Given the description of an element on the screen output the (x, y) to click on. 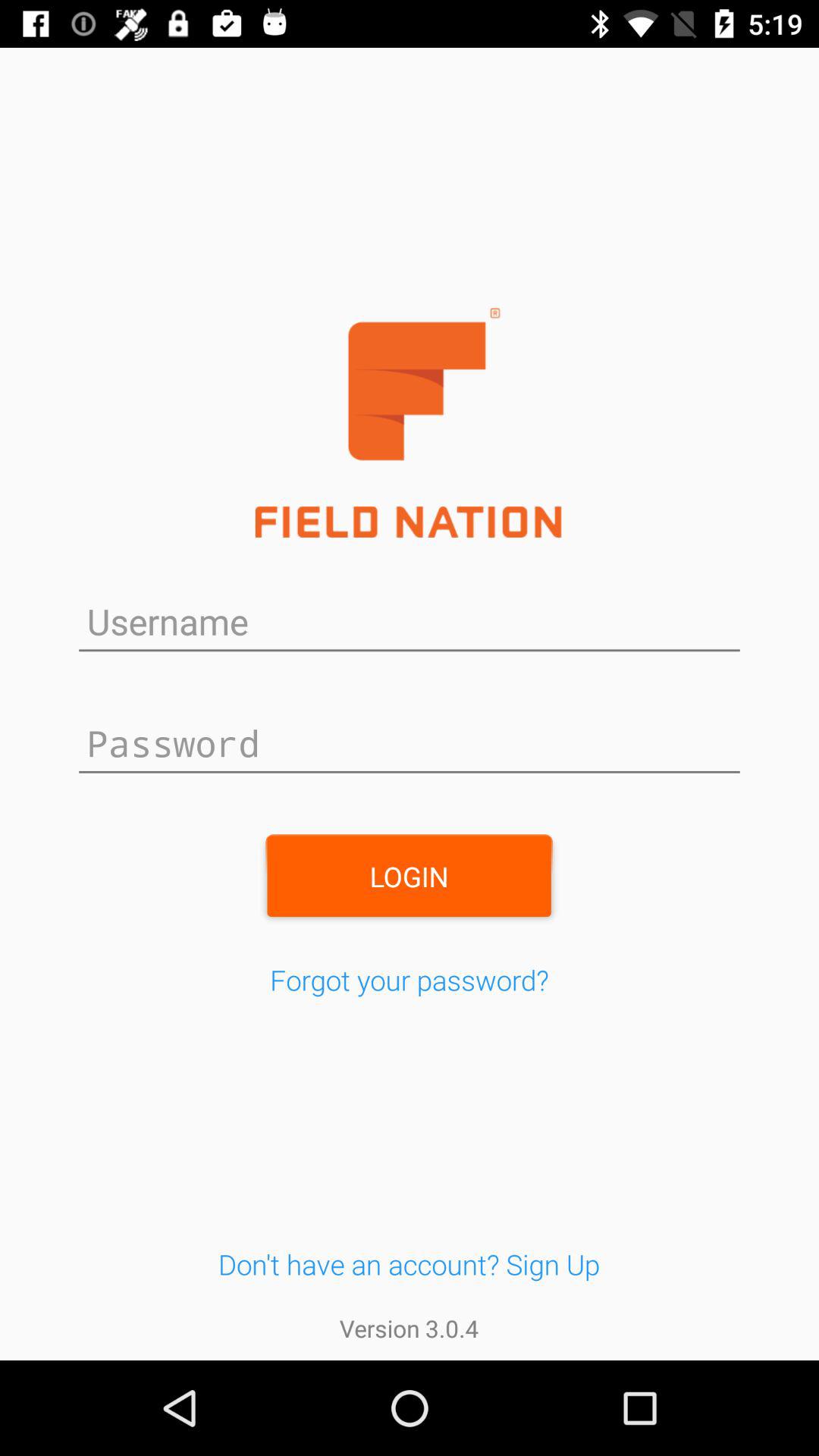
swipe until the login (408, 876)
